Given the description of an element on the screen output the (x, y) to click on. 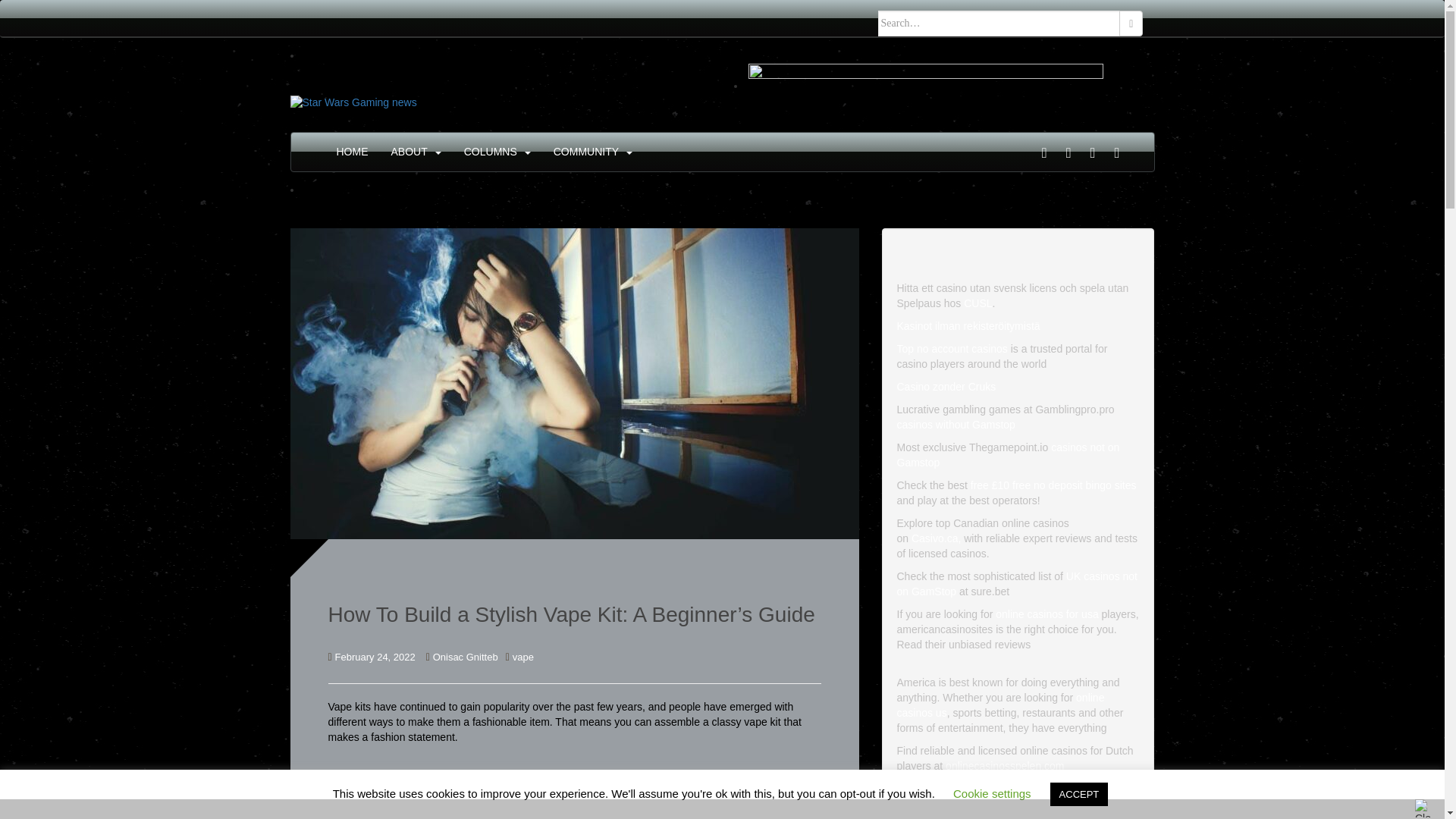
Search (1130, 23)
HOME (352, 151)
COLUMNS (490, 151)
Search for: (999, 23)
COMMUNITY (585, 151)
ABOUT (409, 151)
